Given the description of an element on the screen output the (x, y) to click on. 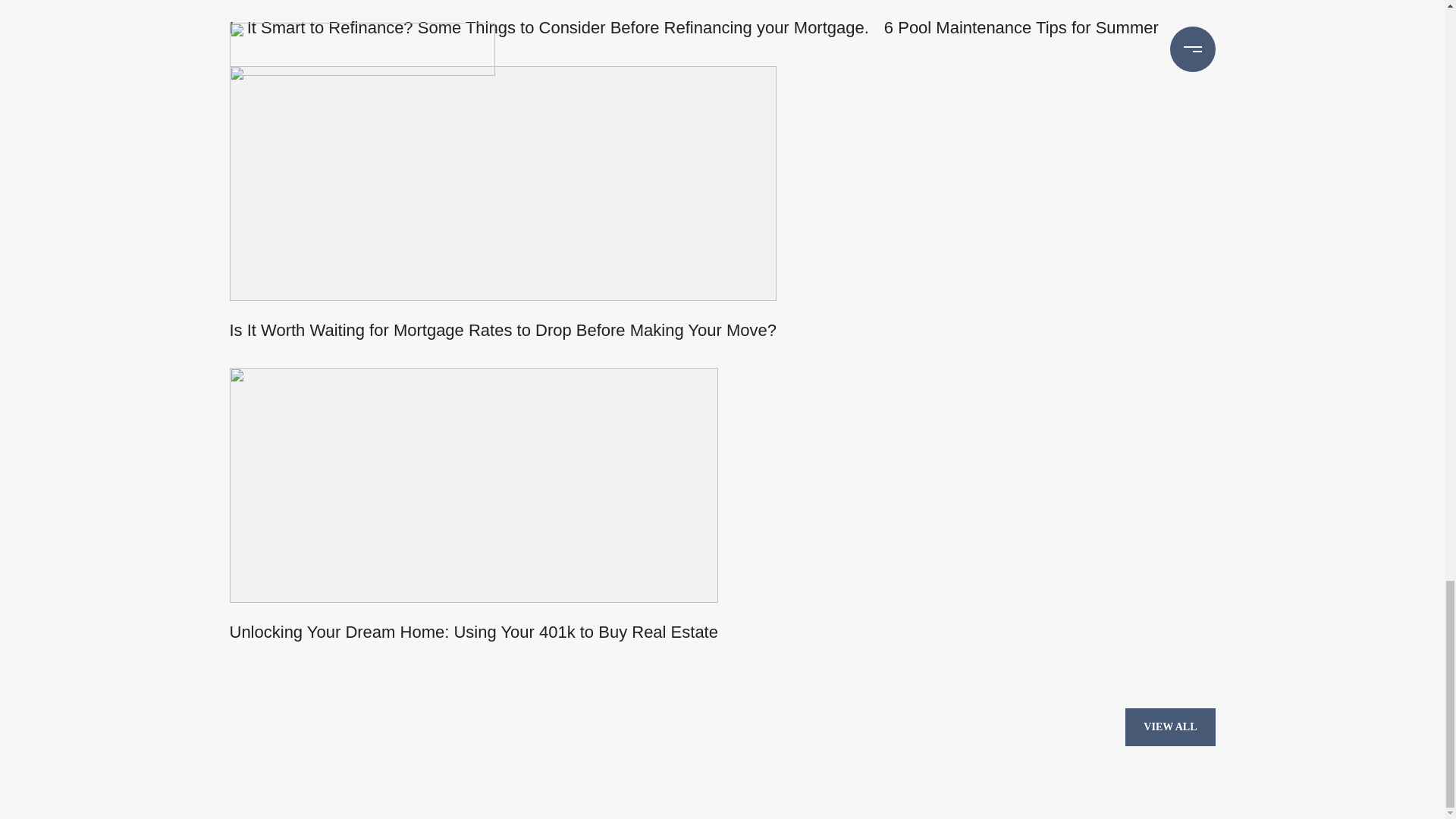
6 Pool Maintenance Tips for Summer (1020, 33)
VIEW ALL (1169, 727)
